Given the description of an element on the screen output the (x, y) to click on. 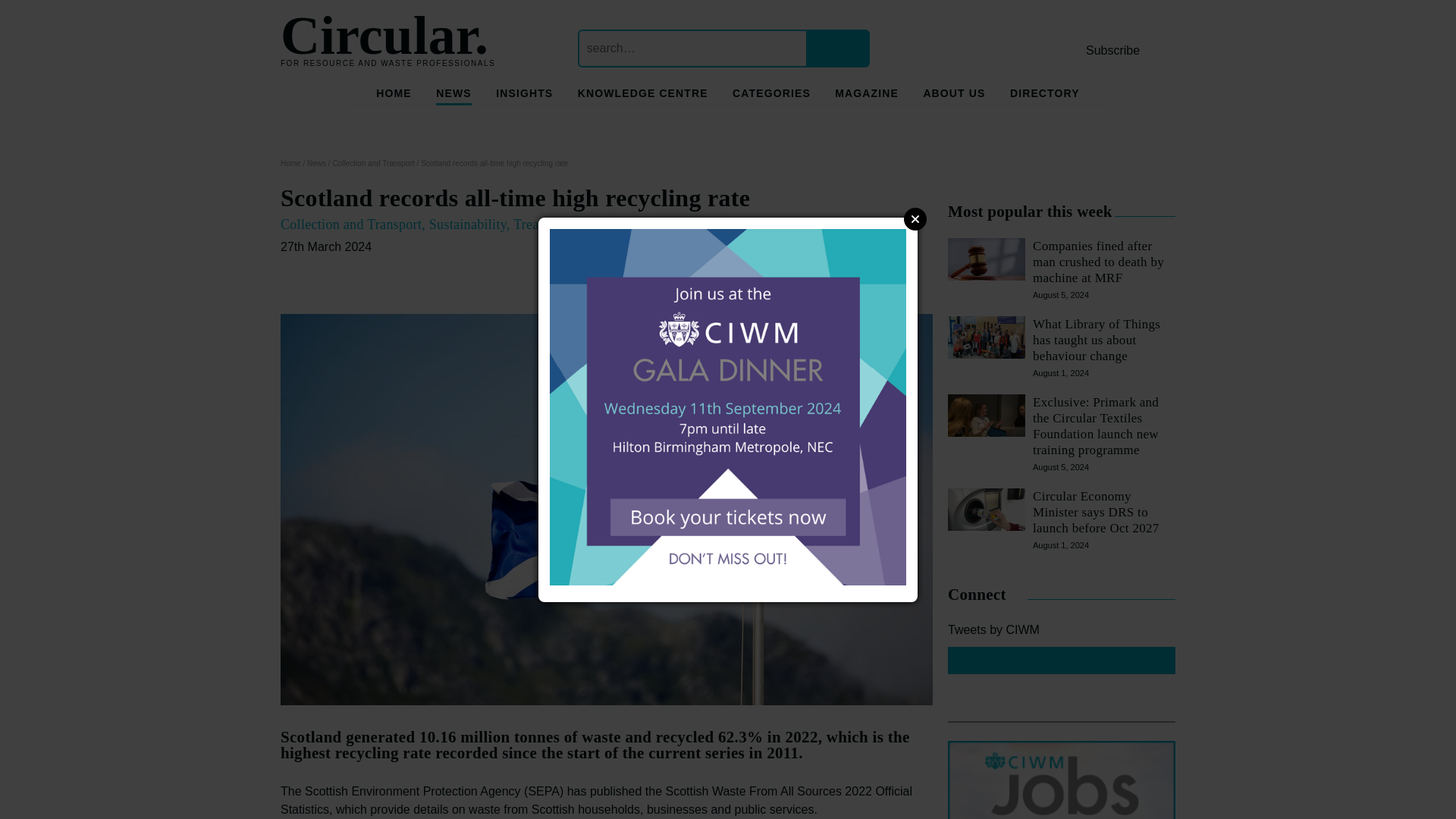
HOME (392, 95)
Circular. (384, 35)
NEWS (452, 95)
KNOWLEDGE CENTRE (642, 95)
MAGAZINE (866, 95)
ABOUT US (954, 95)
INSIGHTS (524, 95)
Subscribe (1113, 50)
CATEGORIES (771, 95)
DIRECTORY (1045, 95)
